Given the description of an element on the screen output the (x, y) to click on. 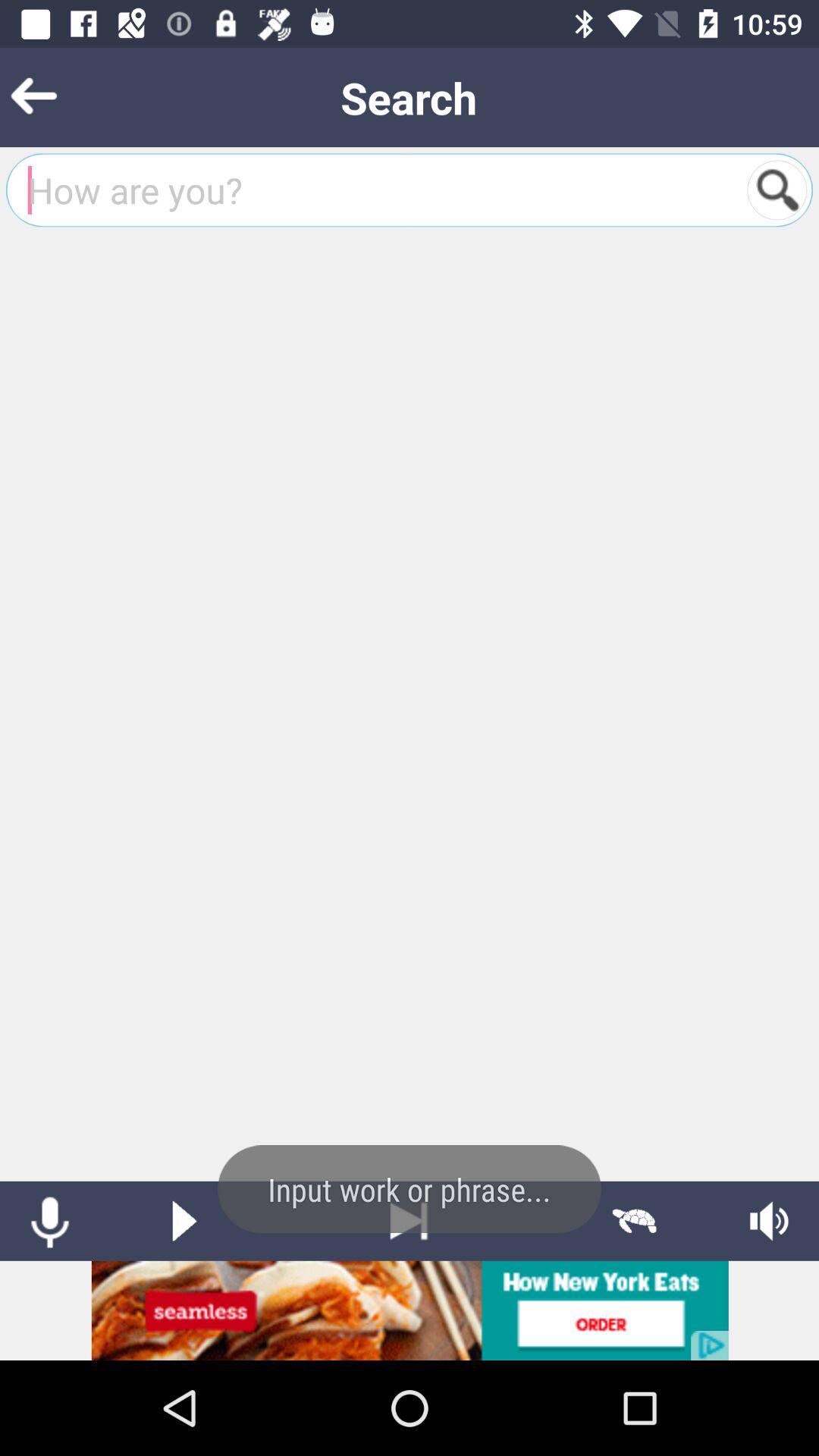
search (777, 190)
